Given the description of an element on the screen output the (x, y) to click on. 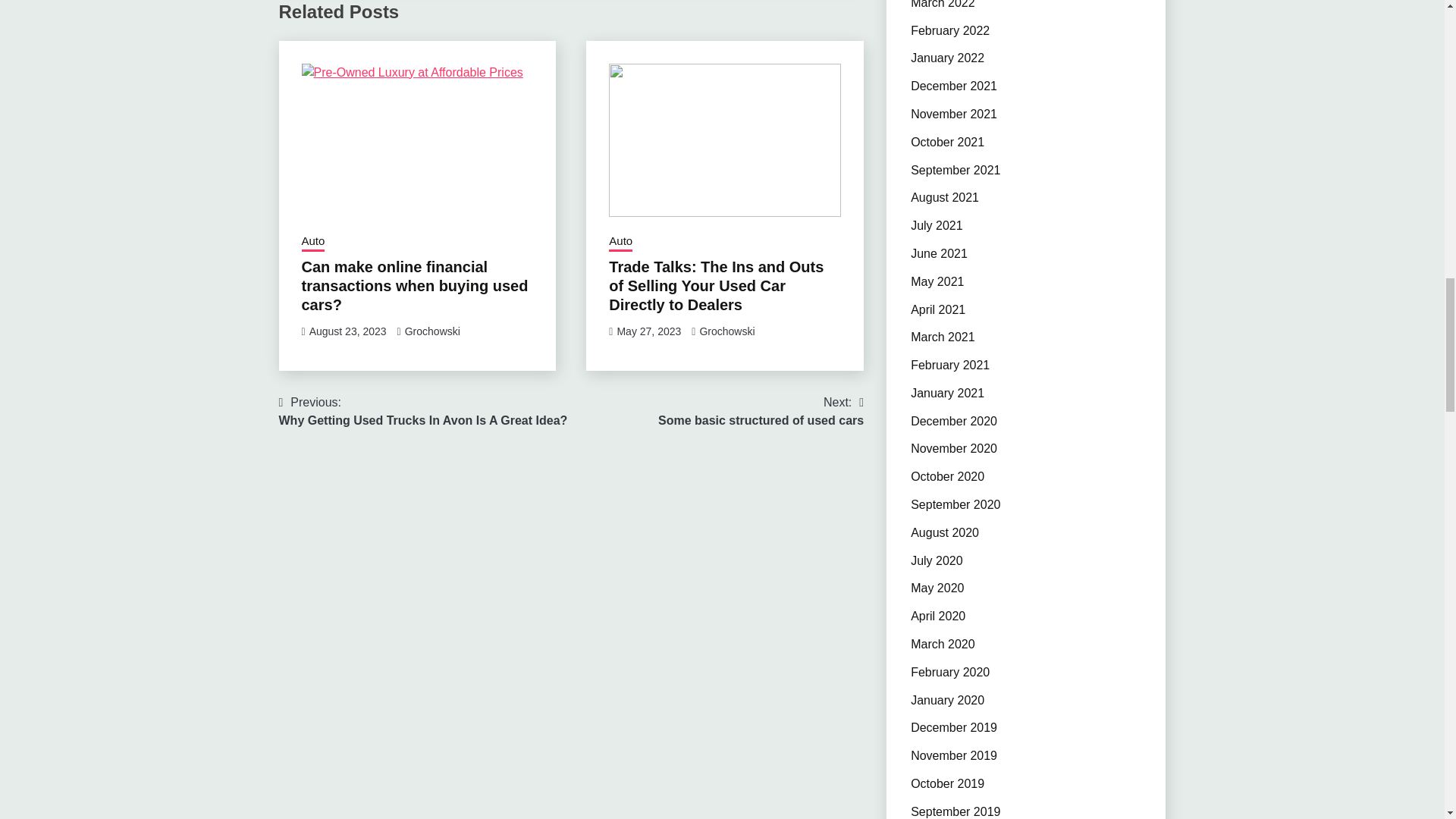
Grochowski (432, 331)
Auto (760, 411)
May 27, 2023 (619, 242)
August 23, 2023 (423, 411)
Grochowski (648, 331)
Auto (347, 331)
